Given the description of an element on the screen output the (x, y) to click on. 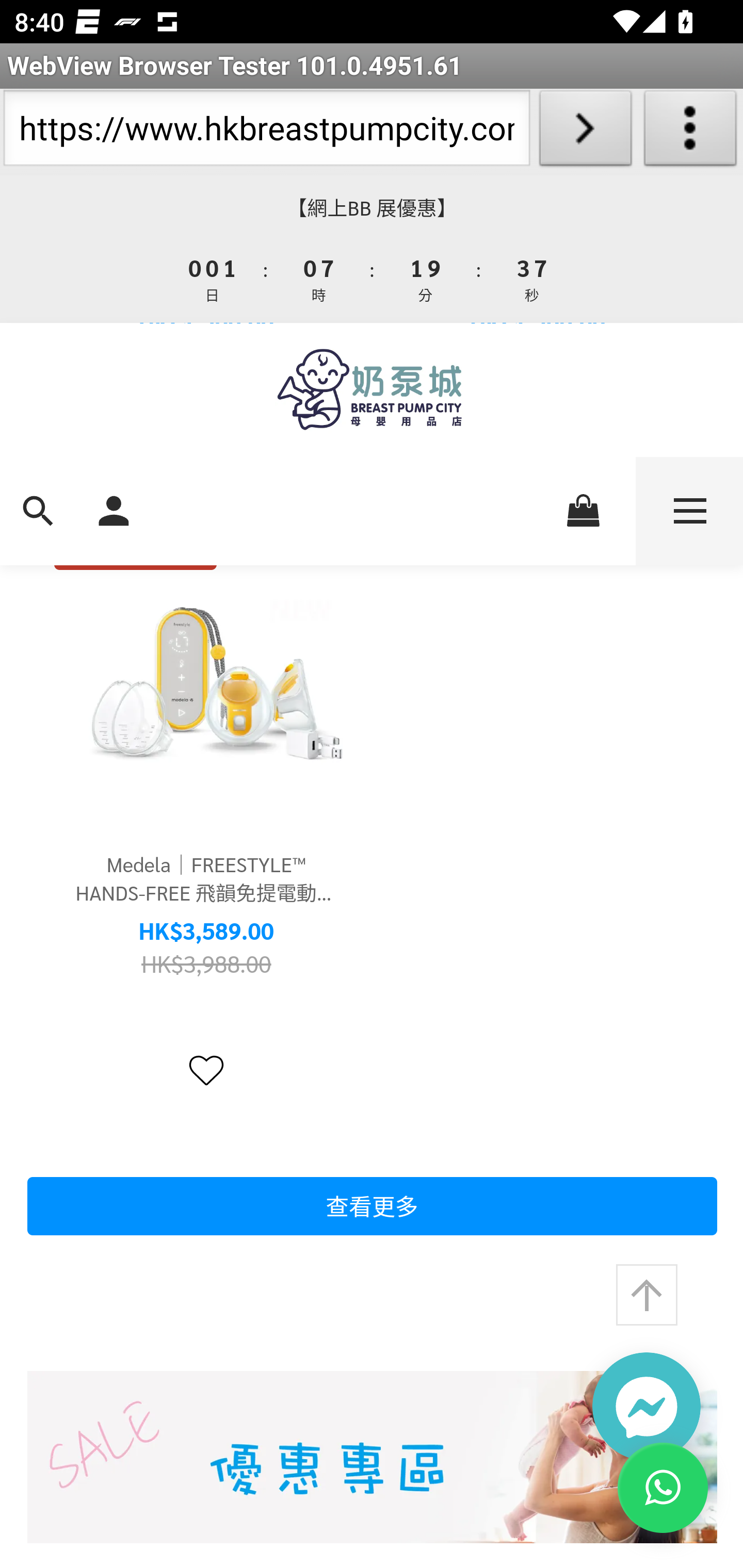
https://www.hkbreastpumpcity.com/ (266, 132)
Load URL (585, 132)
About WebView (690, 132)
3 2 1 0 3 2 1 0 4 3 2 1 0 日 (213, 277)
3 2 1 0 9 8 7 6 5 4 3 2 1 0 時 (318, 277)
4 3 2 1 0 9 8 7 6 5 4 3 2 1 0 分 (425, 277)
6 5 4 3 2 1 0 9 8 7 6 5 4 3 2 1 0 秒 (530, 277)
594x (371, 389)
【最新型號】額外贈品 Medela｜FREESTYLE™ HANDS-FREE 飛韻免提電動雙泵 (206, 679)
Medela｜FREESTYLE™ HANDS-FREE 飛韻免提電動雙泵 (206, 877)
HK$3,589.00 (206, 931)
HK$3,988.00 (206, 962)
 (206, 1070)
查看更多 (371, 1206)
•  new-page (371, 1457)
